Given the description of an element on the screen output the (x, y) to click on. 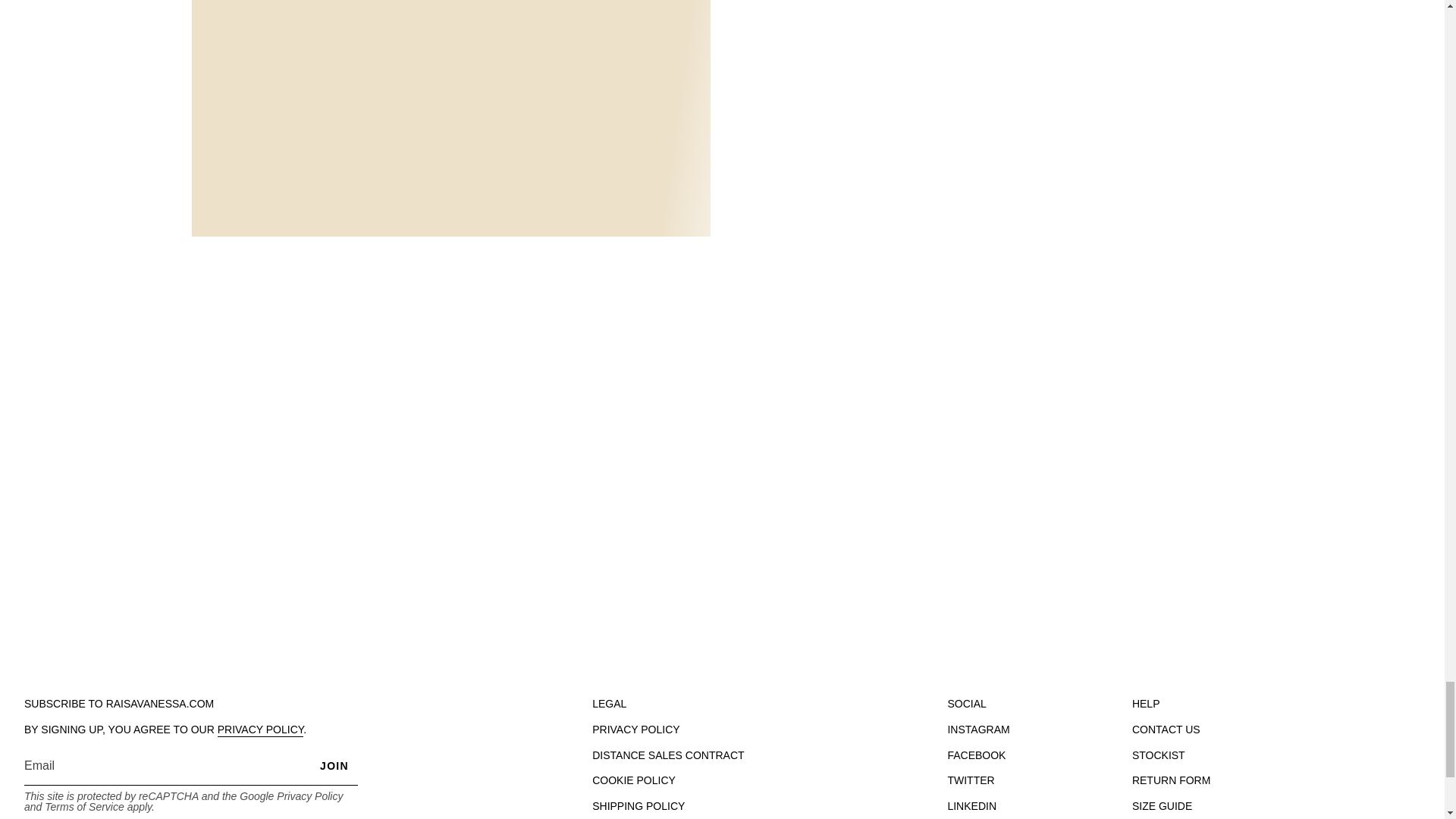
PRIVACY POLICY (260, 731)
